Given the description of an element on the screen output the (x, y) to click on. 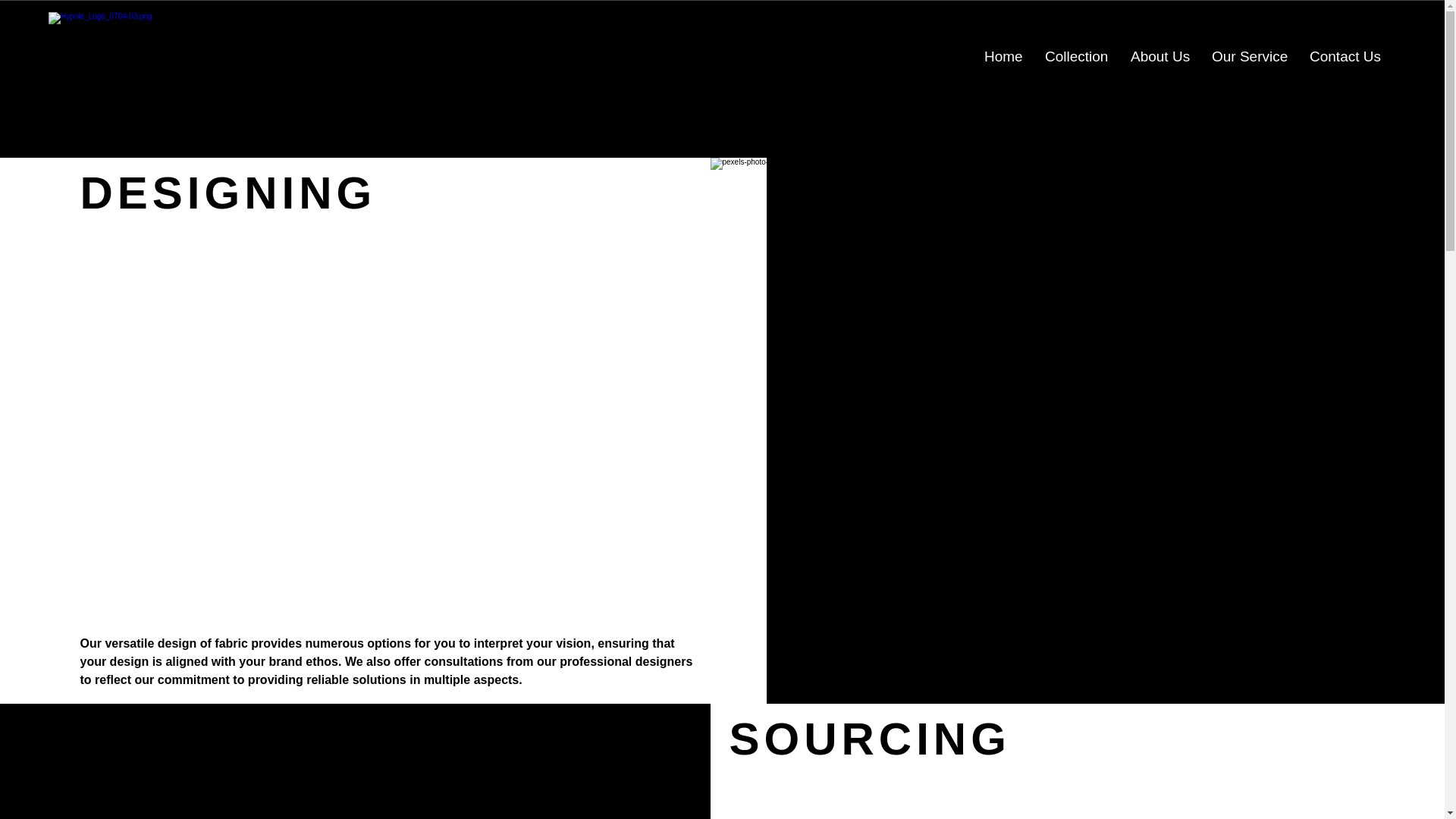
Collection (1076, 56)
About Us (1159, 56)
Home (1002, 56)
Contact Us (1344, 56)
pexels-photo-4622222.webp (355, 761)
Our Service (1248, 56)
